Given the description of an element on the screen output the (x, y) to click on. 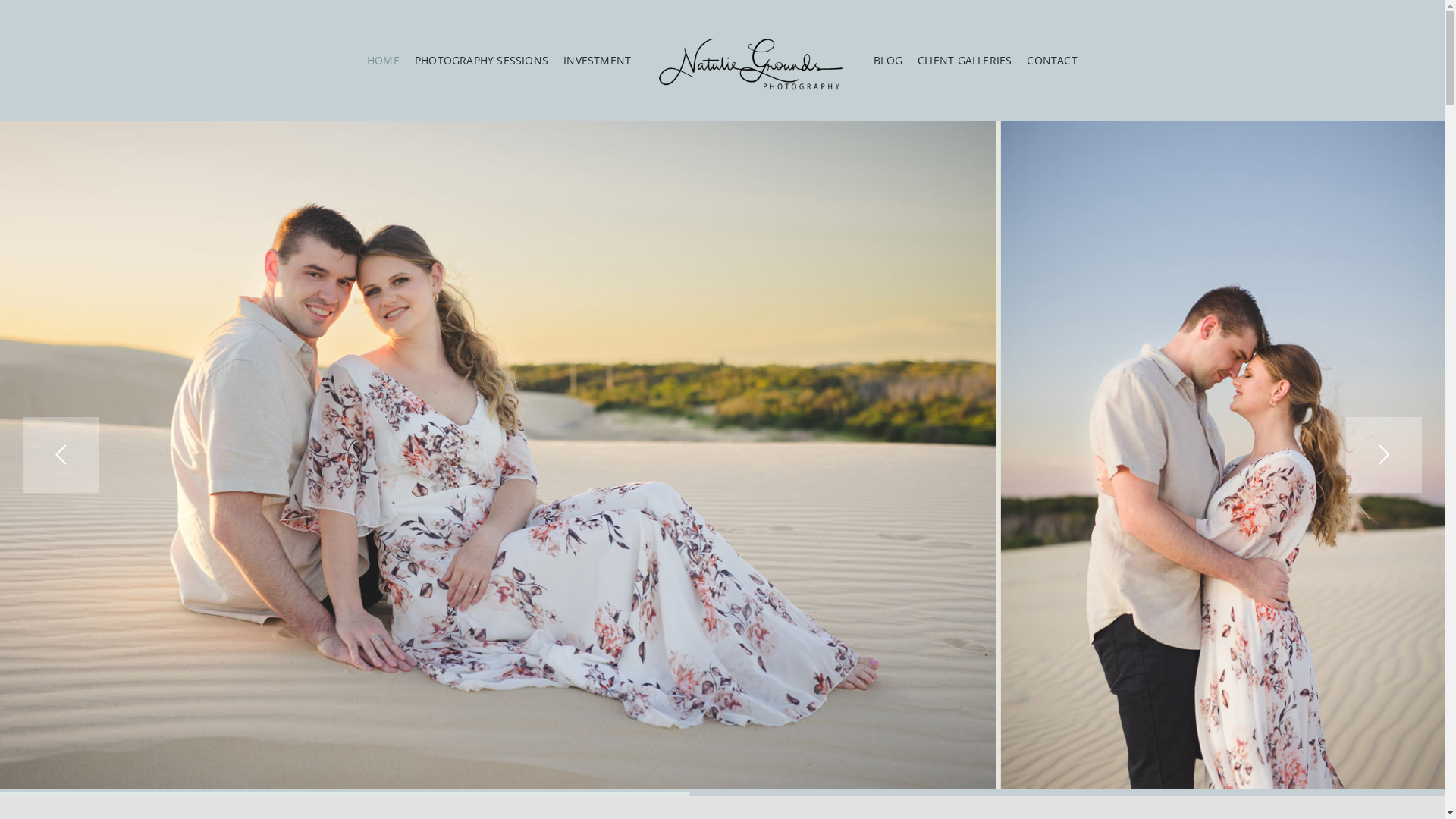
HOME Element type: text (383, 56)
CONTACT Element type: text (1051, 56)
CLIENT GALLERIES Element type: text (964, 56)
PHOTOGRAPHY SESSIONS Element type: text (481, 56)
BLOG Element type: text (888, 56)
INVESTMENT Element type: text (596, 56)
